Given the description of an element on the screen output the (x, y) to click on. 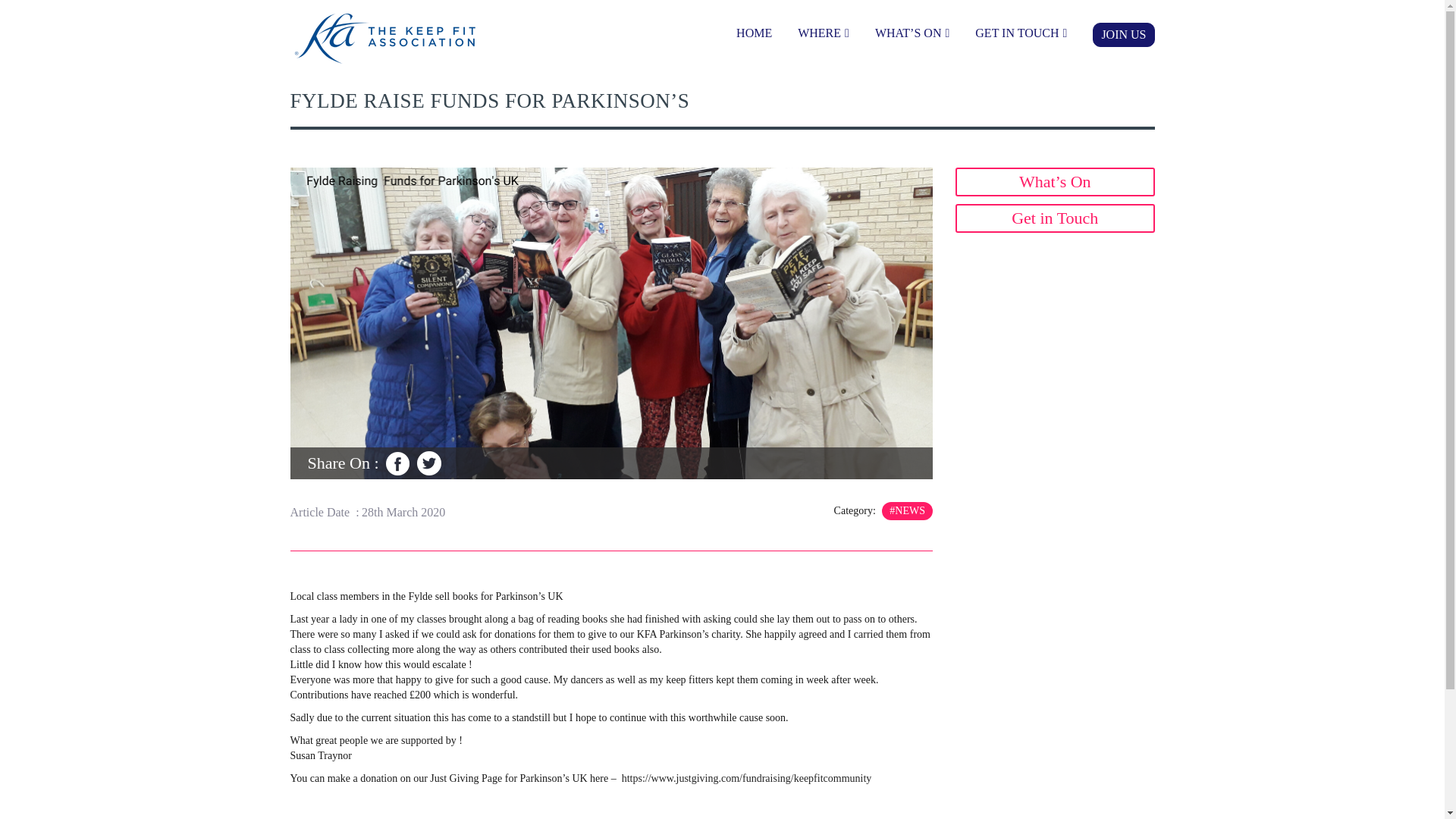
JOIN US (1123, 34)
WHERE (822, 32)
HOME (753, 32)
GET IN TOUCH (1021, 32)
